Given the description of an element on the screen output the (x, y) to click on. 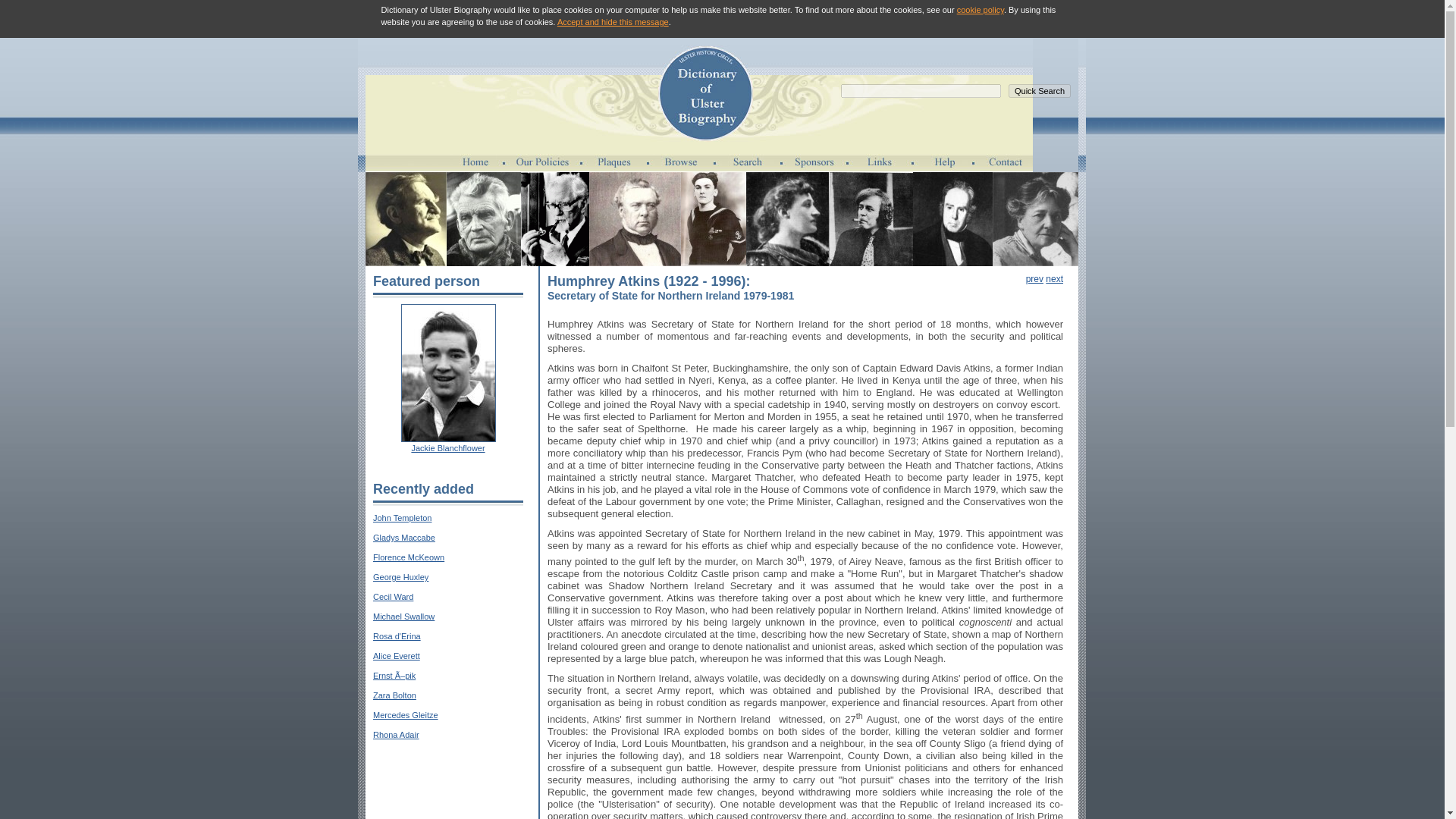
Rosa d'Erina (396, 635)
cookie policy (980, 9)
Florence McKeown (408, 556)
prev (1034, 278)
Accept and hide this message (612, 21)
Rosamond Praegar (1035, 218)
Stewart Parker (870, 218)
Alice Everett (396, 655)
Gladys Maccabe (403, 537)
Michael Swallow (402, 615)
